Given the description of an element on the screen output the (x, y) to click on. 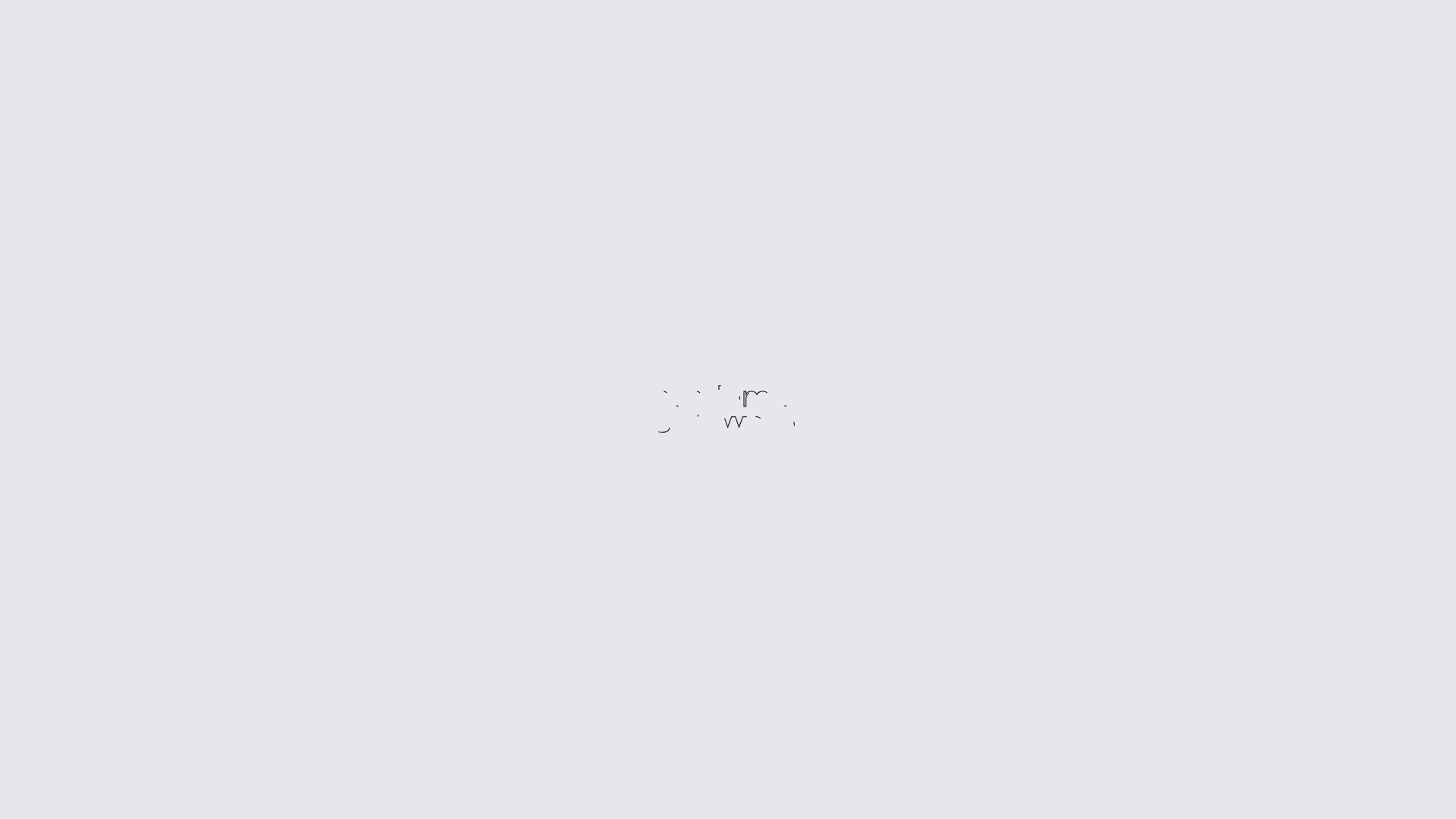
alt-logo Element type: hover (727, 409)
